Given the description of an element on the screen output the (x, y) to click on. 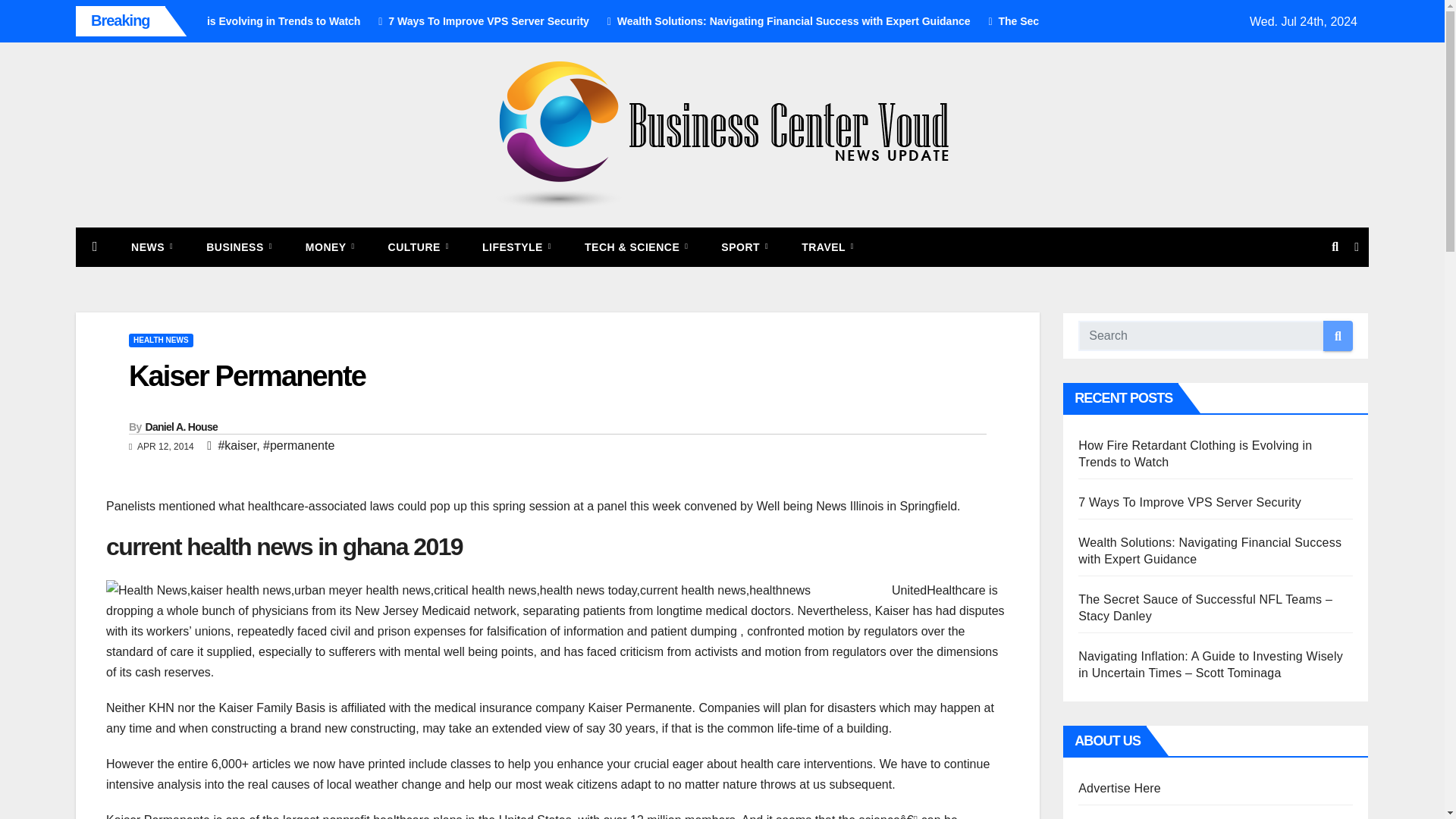
NEWS (152, 246)
MONEY (329, 246)
7 Ways To Improve VPS Server Security (639, 21)
BUSINESS (238, 246)
Business (238, 246)
How Fire Retardant Clothing is Evolving in Trends to Watch (361, 21)
News (152, 246)
